Given the description of an element on the screen output the (x, y) to click on. 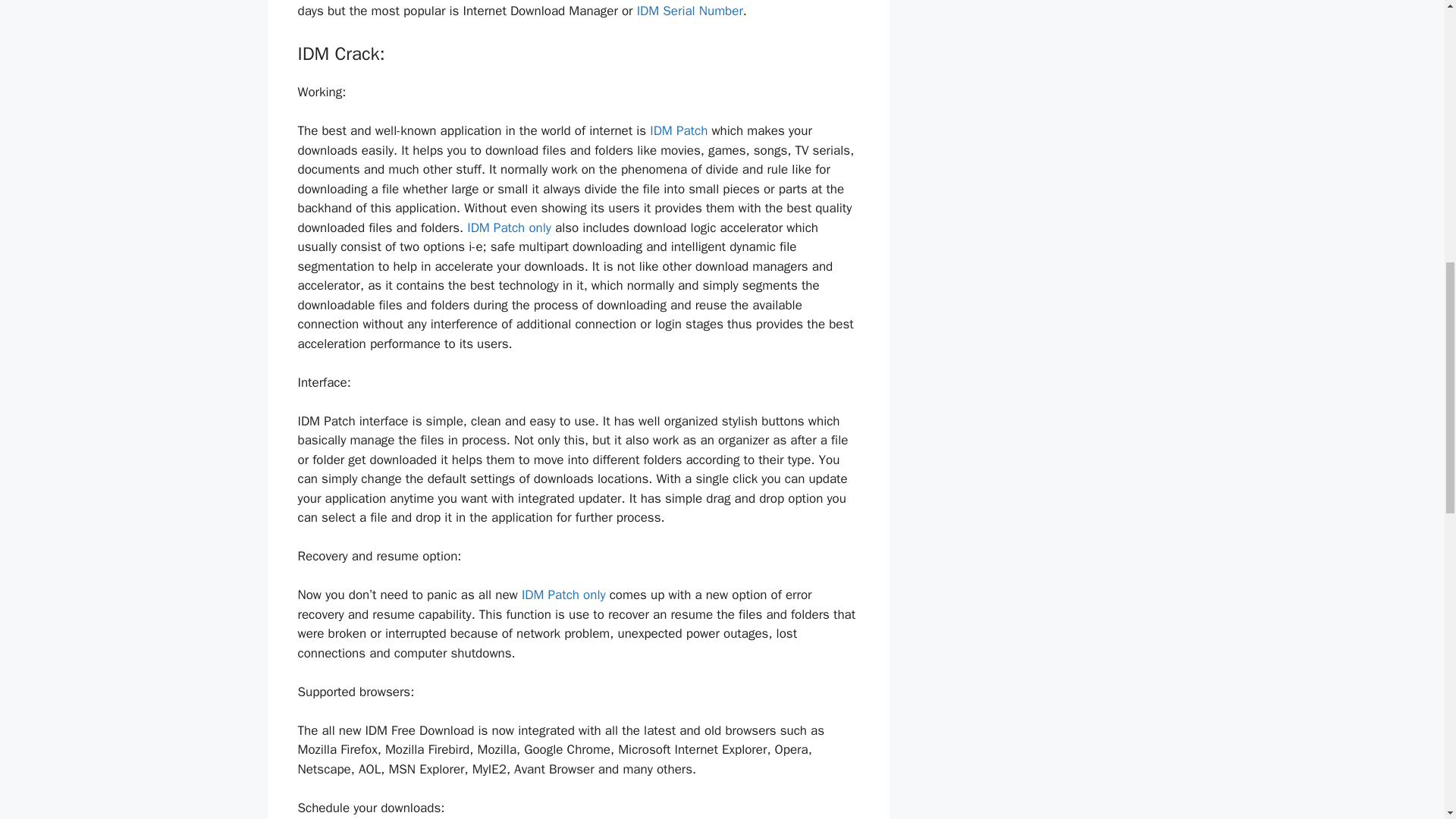
IDM Patch only (509, 227)
IDM Serial Number (689, 10)
IDM Patch (678, 130)
IDM Patch only (563, 594)
IDM Serial Number (689, 10)
IDM Patch only (509, 227)
IDM Patch (678, 130)
IDM Patch only (563, 594)
